Given the description of an element on the screen output the (x, y) to click on. 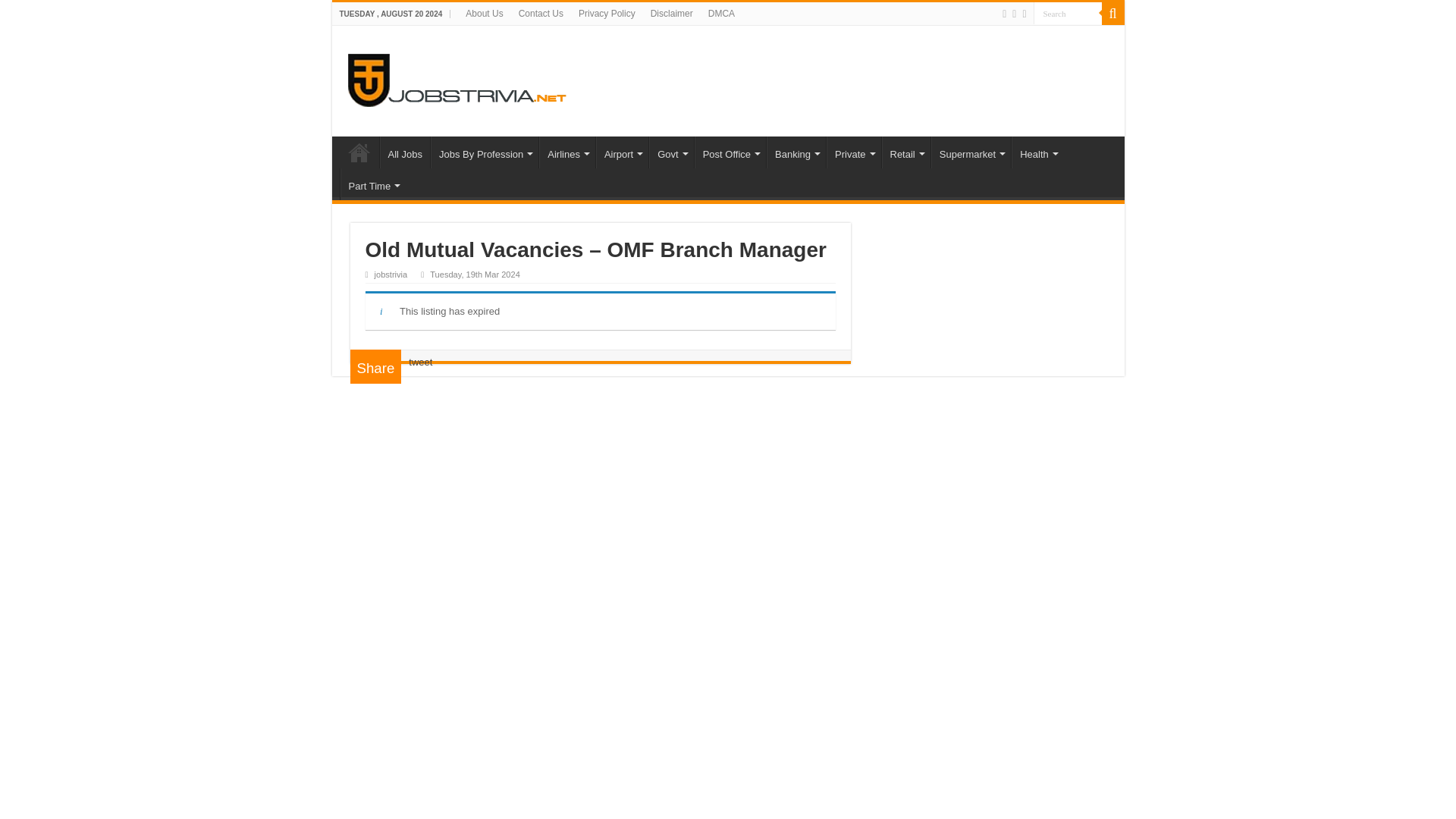
Search (1066, 13)
Search (1112, 13)
All Jobs (403, 152)
Jobs By Profession (484, 152)
Disclaimer (671, 13)
About Us (484, 13)
Privacy Policy (606, 13)
Search (1066, 13)
Search (1066, 13)
Contact Us (540, 13)
